Given the description of an element on the screen output the (x, y) to click on. 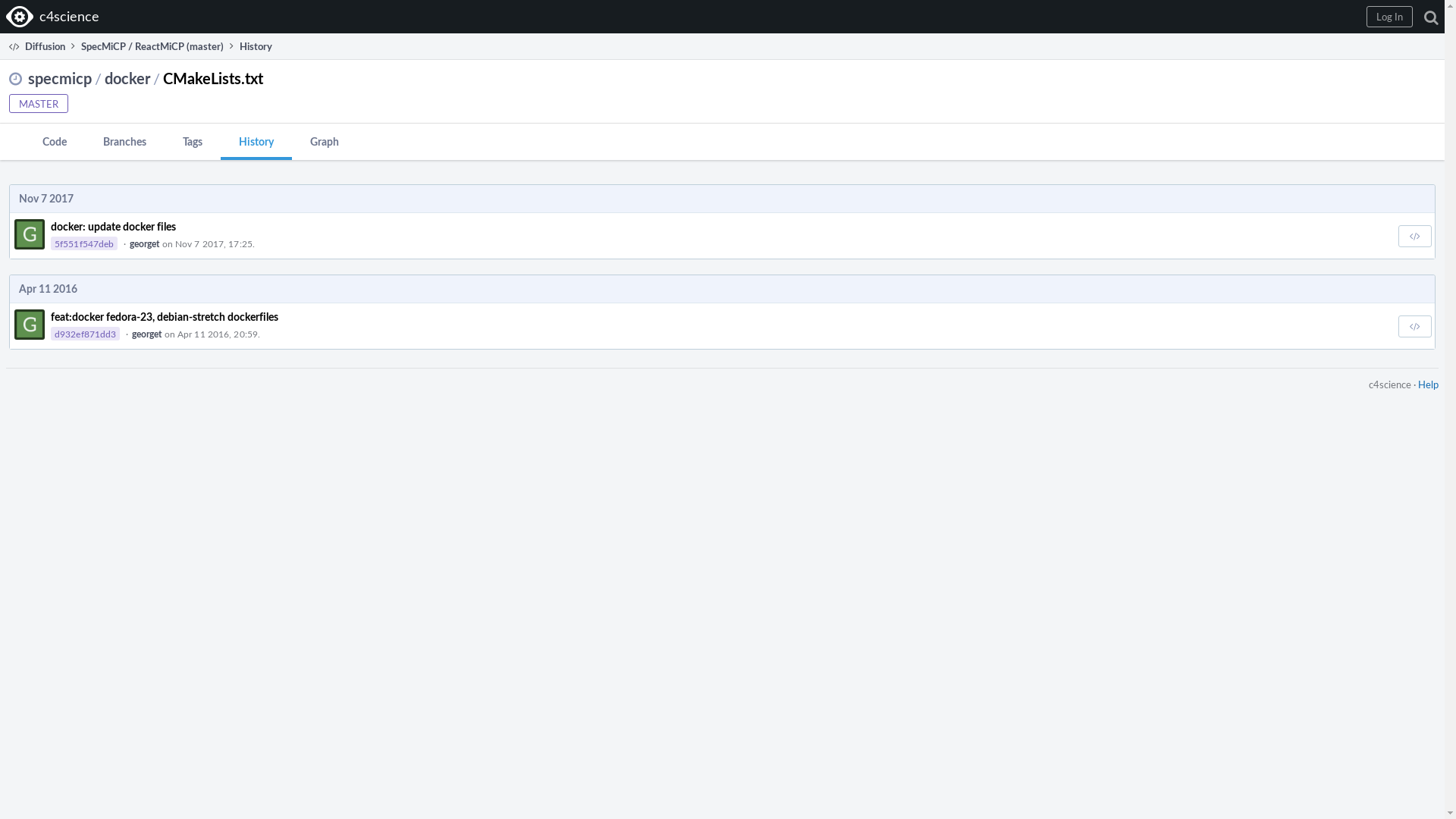
SpecMiCP / ReactMiCP (master) Element type: text (152, 46)
History Element type: text (255, 141)
Diffusion Element type: text (35, 46)
feat:docker fedora-23, debian-stretch dockerfiles Element type: text (164, 316)
specmicp Element type: text (59, 77)
docker Element type: text (127, 77)
docker: update docker files Element type: text (112, 226)
Branches Element type: text (124, 139)
Log In Element type: text (1389, 16)
georget Element type: text (144, 243)
Help Element type: text (1428, 384)
Graph Element type: text (324, 139)
Code Element type: text (54, 139)
georget Element type: text (146, 333)
c4science Element type: text (54, 16)
Tags Element type: text (192, 139)
